Given the description of an element on the screen output the (x, y) to click on. 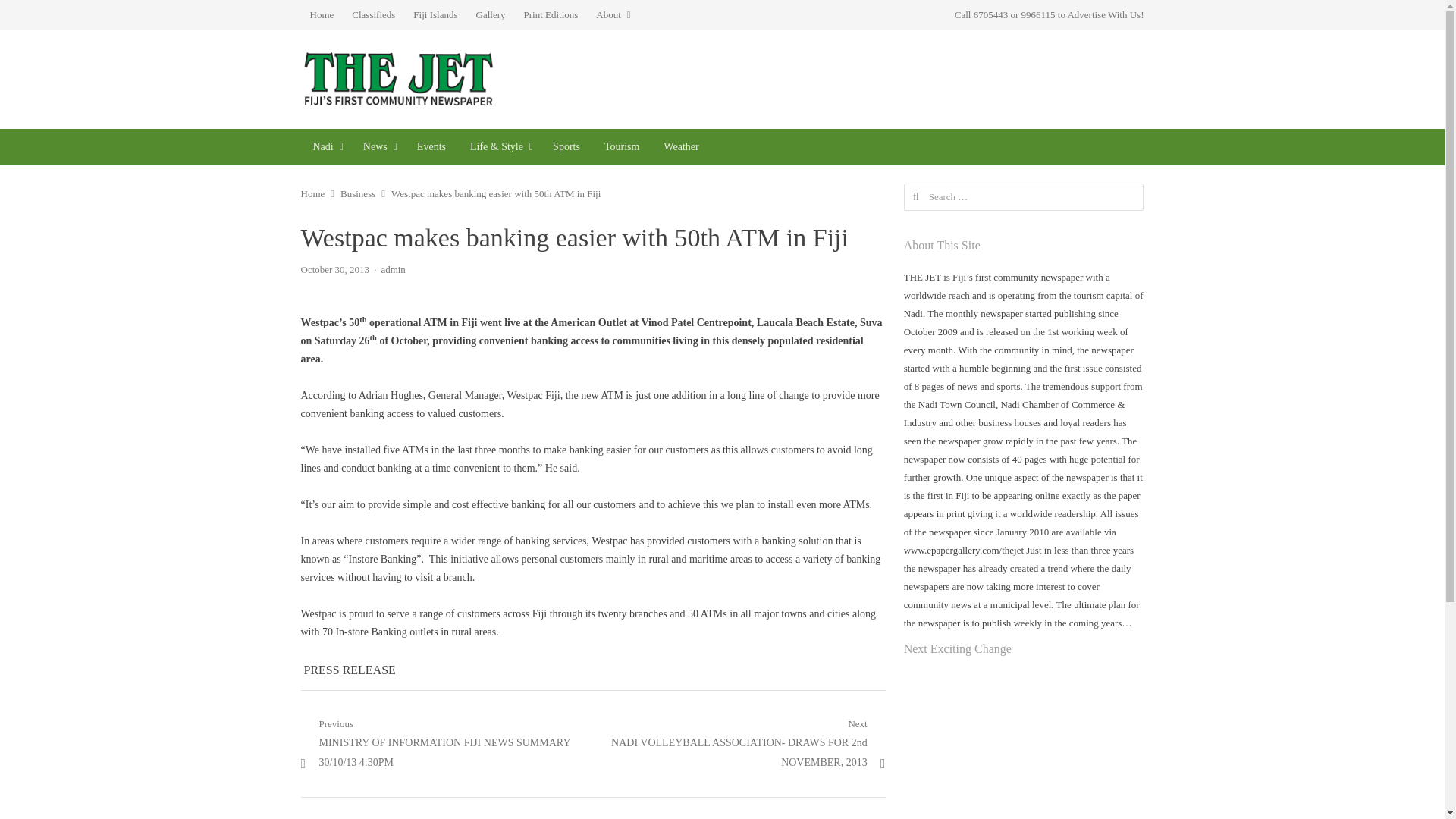
Gallery (491, 14)
About (612, 14)
Classifieds (373, 14)
Print Editions (549, 14)
Home (320, 14)
Fiji Islands (434, 14)
NADI CDN (324, 146)
